Given the description of an element on the screen output the (x, y) to click on. 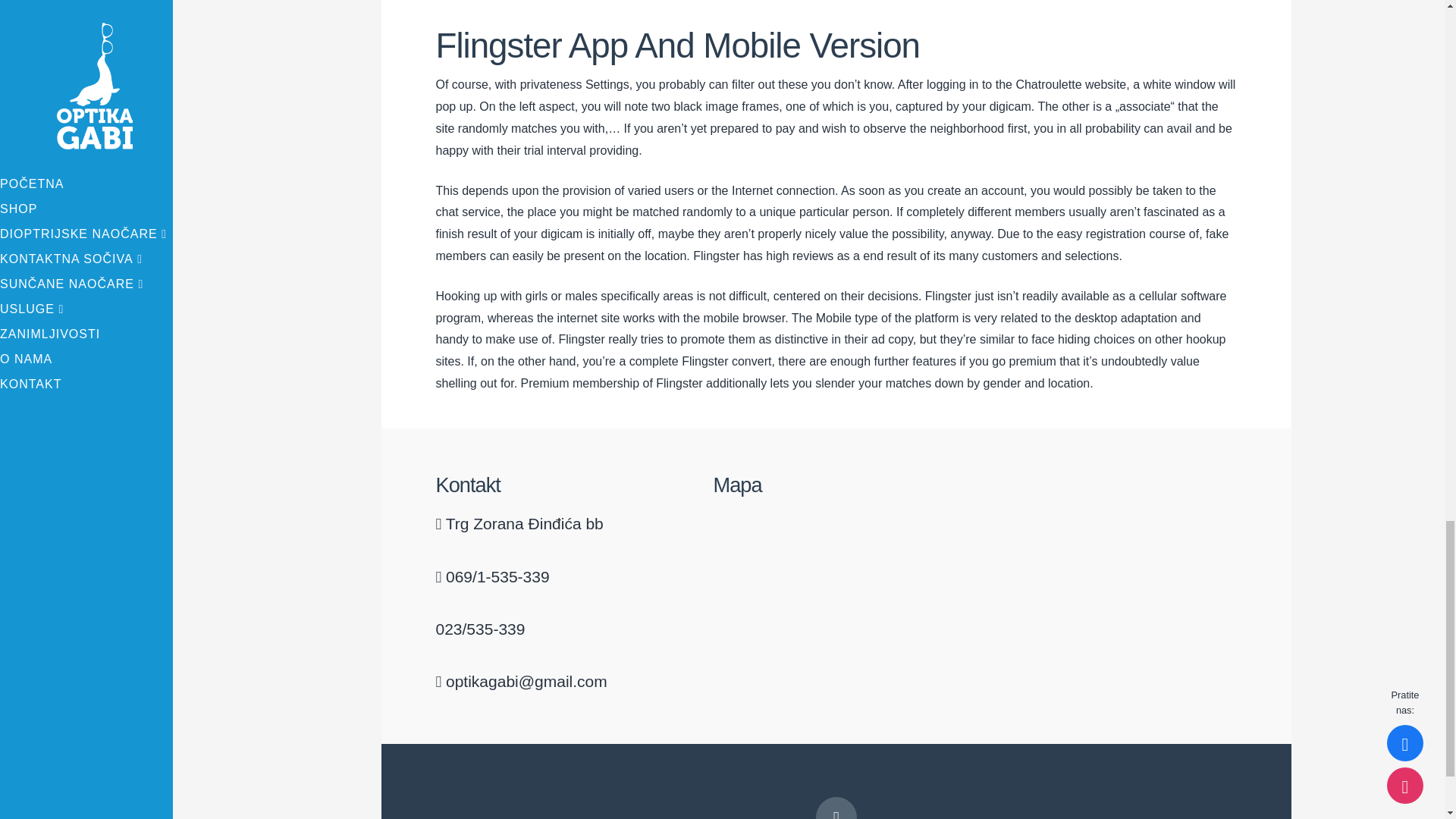
Facebook (836, 807)
